Given the description of an element on the screen output the (x, y) to click on. 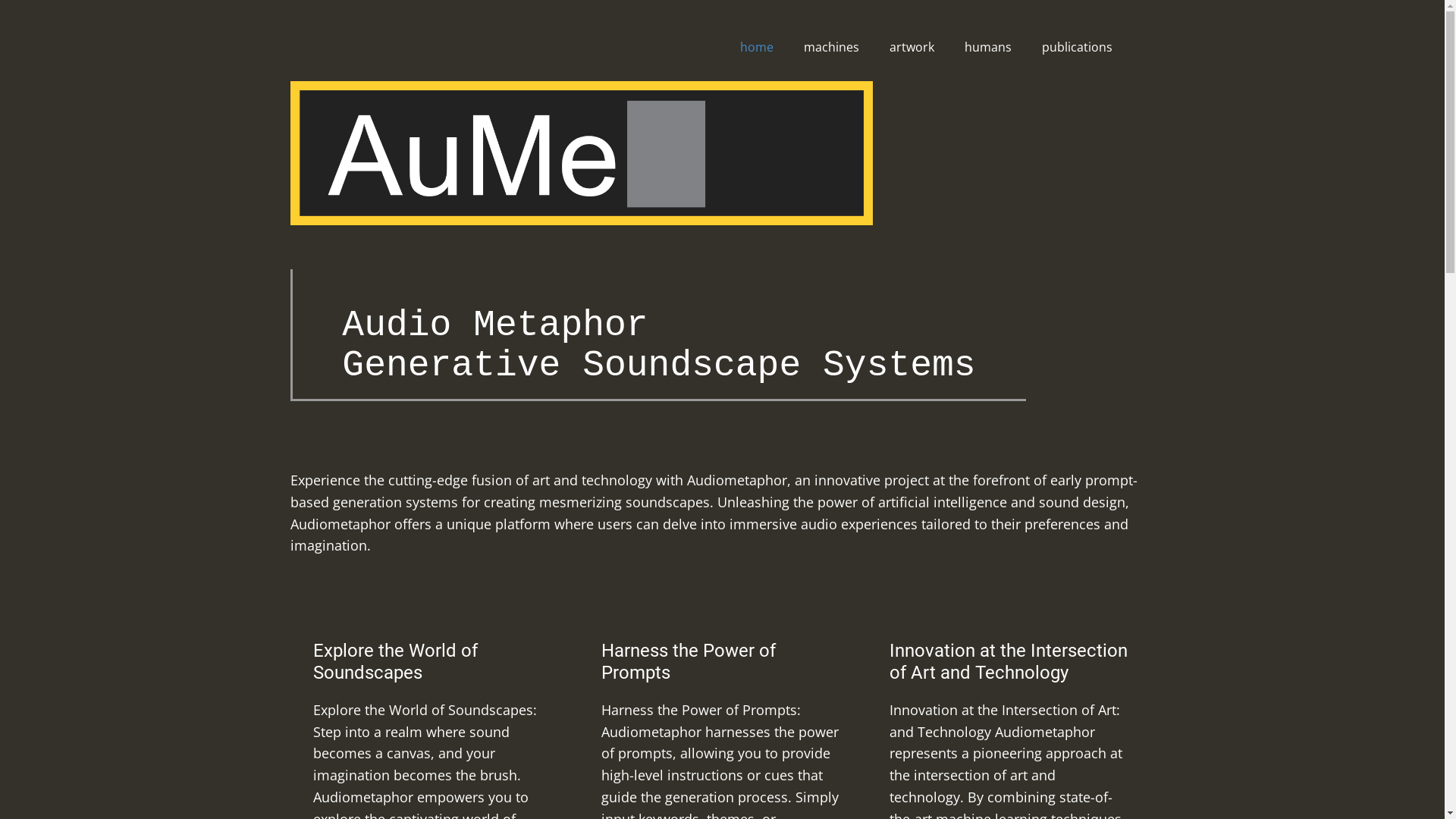
humans Element type: text (987, 46)
artwork Element type: text (910, 46)
machines Element type: text (831, 46)
publications Element type: text (1076, 46)
home Element type: text (756, 46)
